Given the description of an element on the screen output the (x, y) to click on. 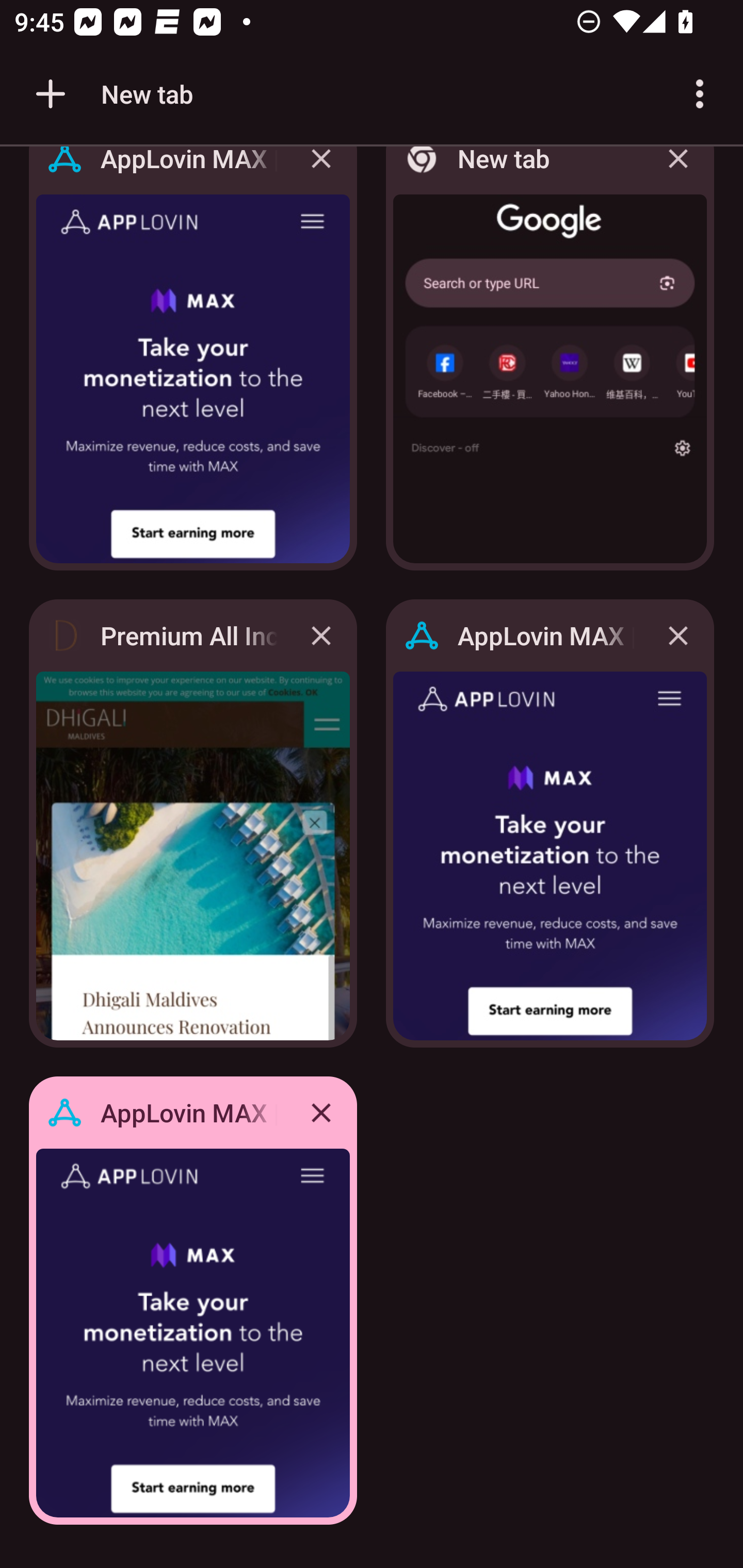
New tab (111, 93)
Customize and control Google Chrome (699, 93)
New tab New tab, tab Close New tab tab (549, 364)
Close New tab tab (677, 173)
